Given the description of an element on the screen output the (x, y) to click on. 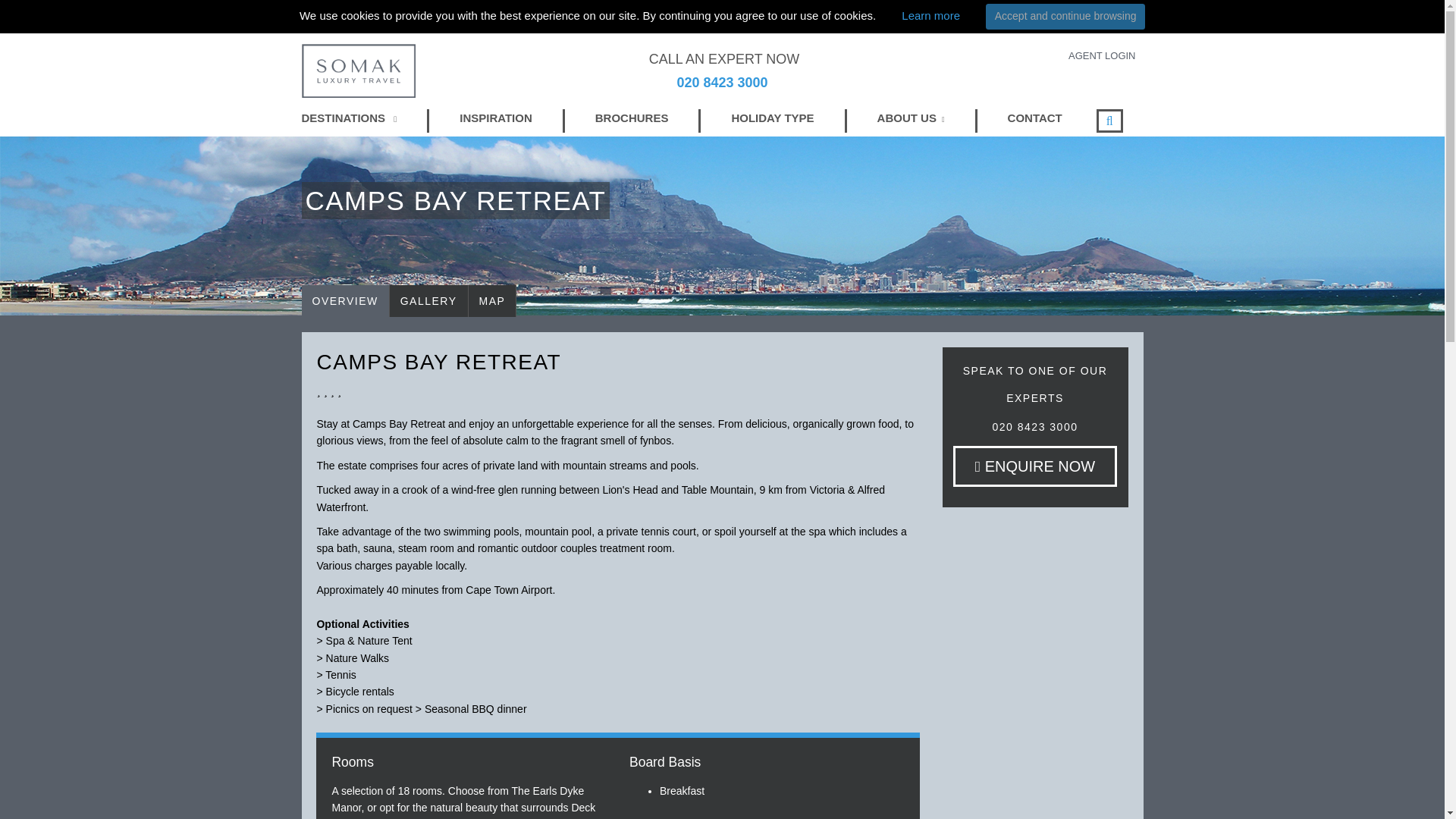
HOLIDAY TYPE (771, 117)
AGENT LOGIN (1101, 55)
DESTINATIONS (349, 117)
Learn more (930, 15)
ABOUT US (910, 117)
BROCHURES (631, 117)
Accept and continue browsing (1064, 16)
020 8423 3000 (721, 91)
INSPIRATION (496, 117)
